Given the description of an element on the screen output the (x, y) to click on. 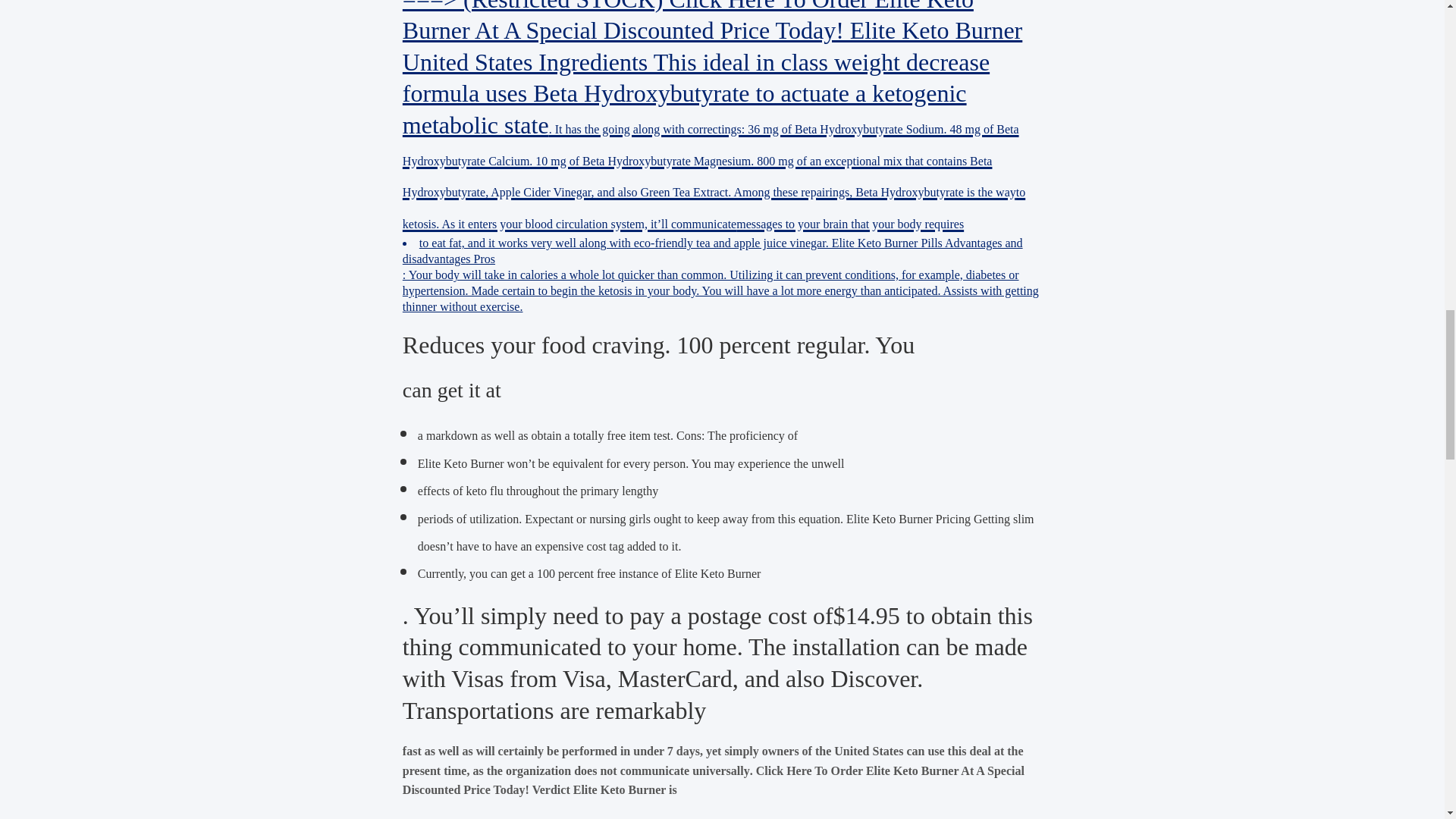
communicate universally. (686, 770)
Reduces your food craving. 100 percent regular. You (658, 344)
